Given the description of an element on the screen output the (x, y) to click on. 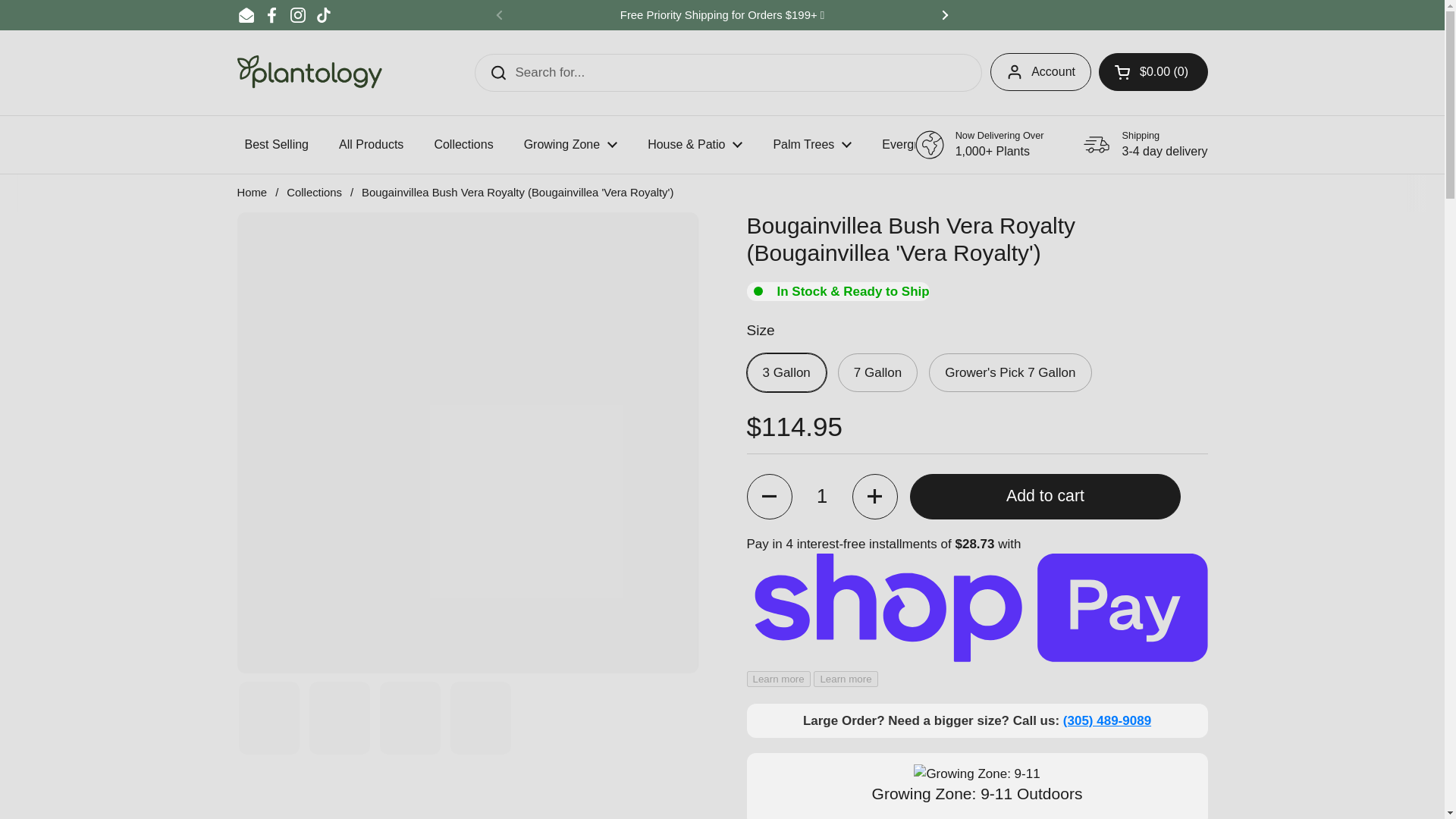
Plantology USA (308, 72)
1 (821, 496)
TikTok (322, 14)
Instagram (296, 14)
Collections (463, 144)
Email (244, 14)
All Products (371, 144)
Open cart (1153, 71)
Growing Zone (570, 144)
Account (1040, 71)
Facebook (271, 14)
Best Selling (275, 144)
